Given the description of an element on the screen output the (x, y) to click on. 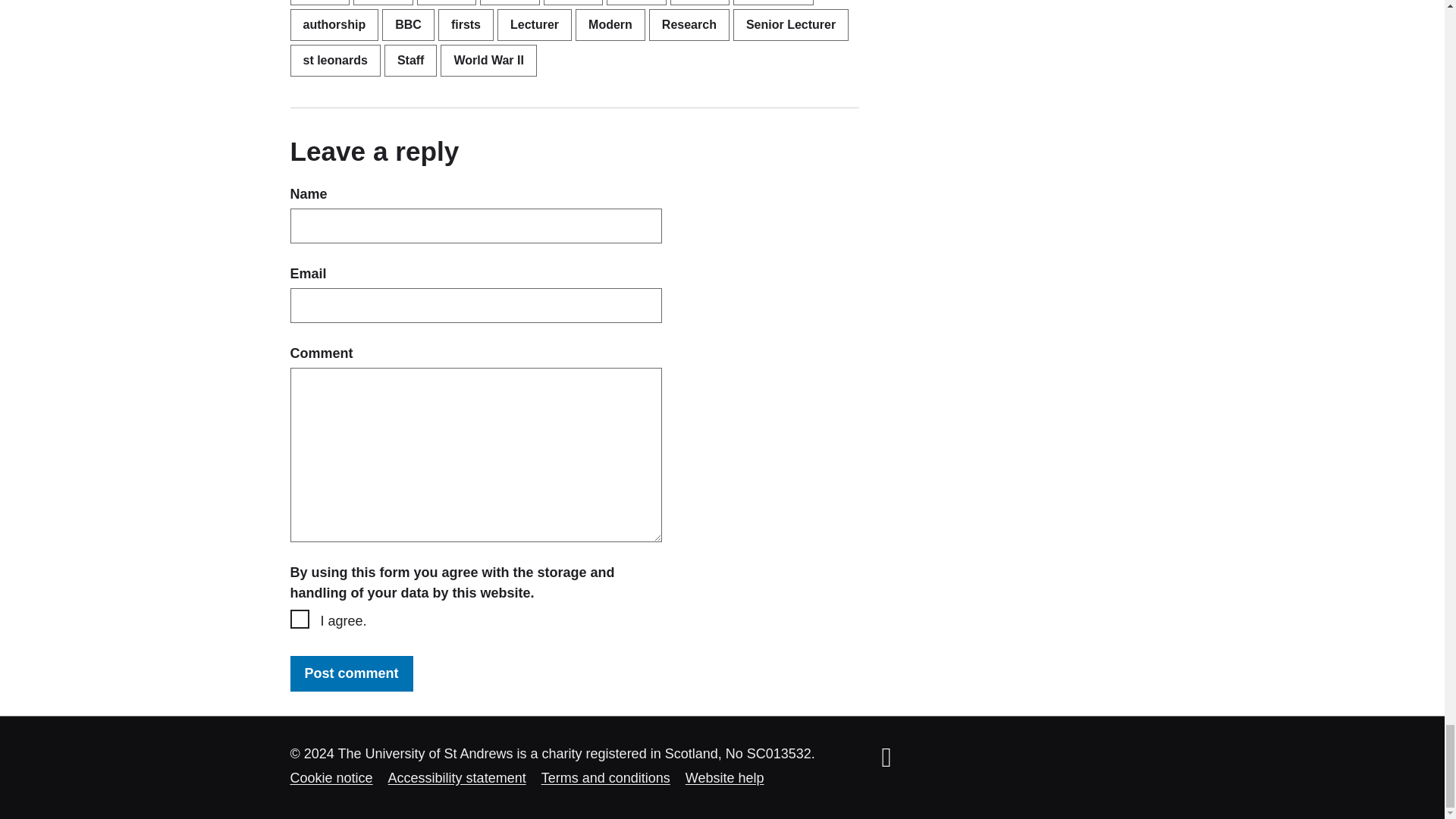
YouTube (885, 757)
